Given the description of an element on the screen output the (x, y) to click on. 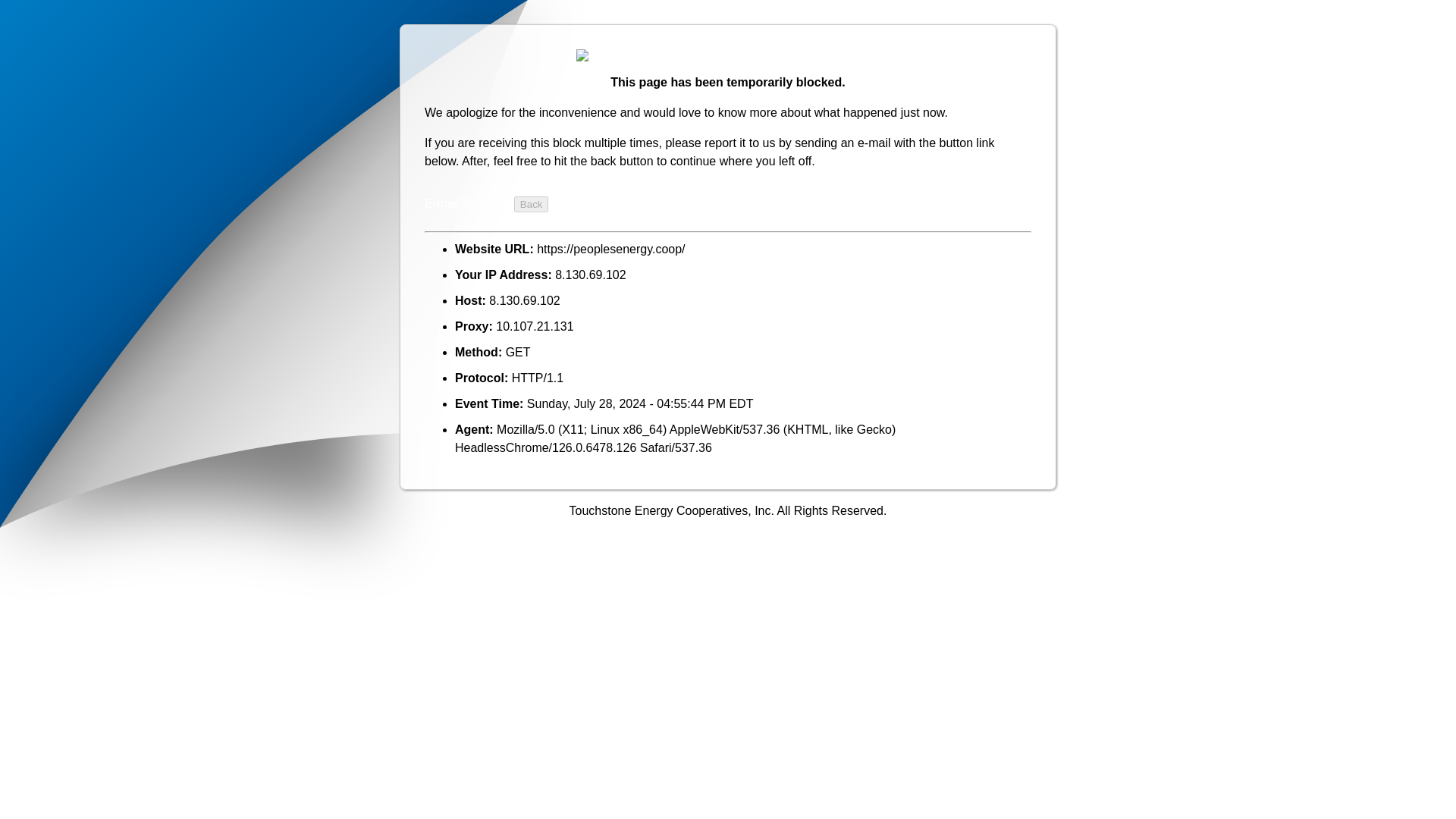
Back (530, 204)
E-mail Support (465, 203)
